Given the description of an element on the screen output the (x, y) to click on. 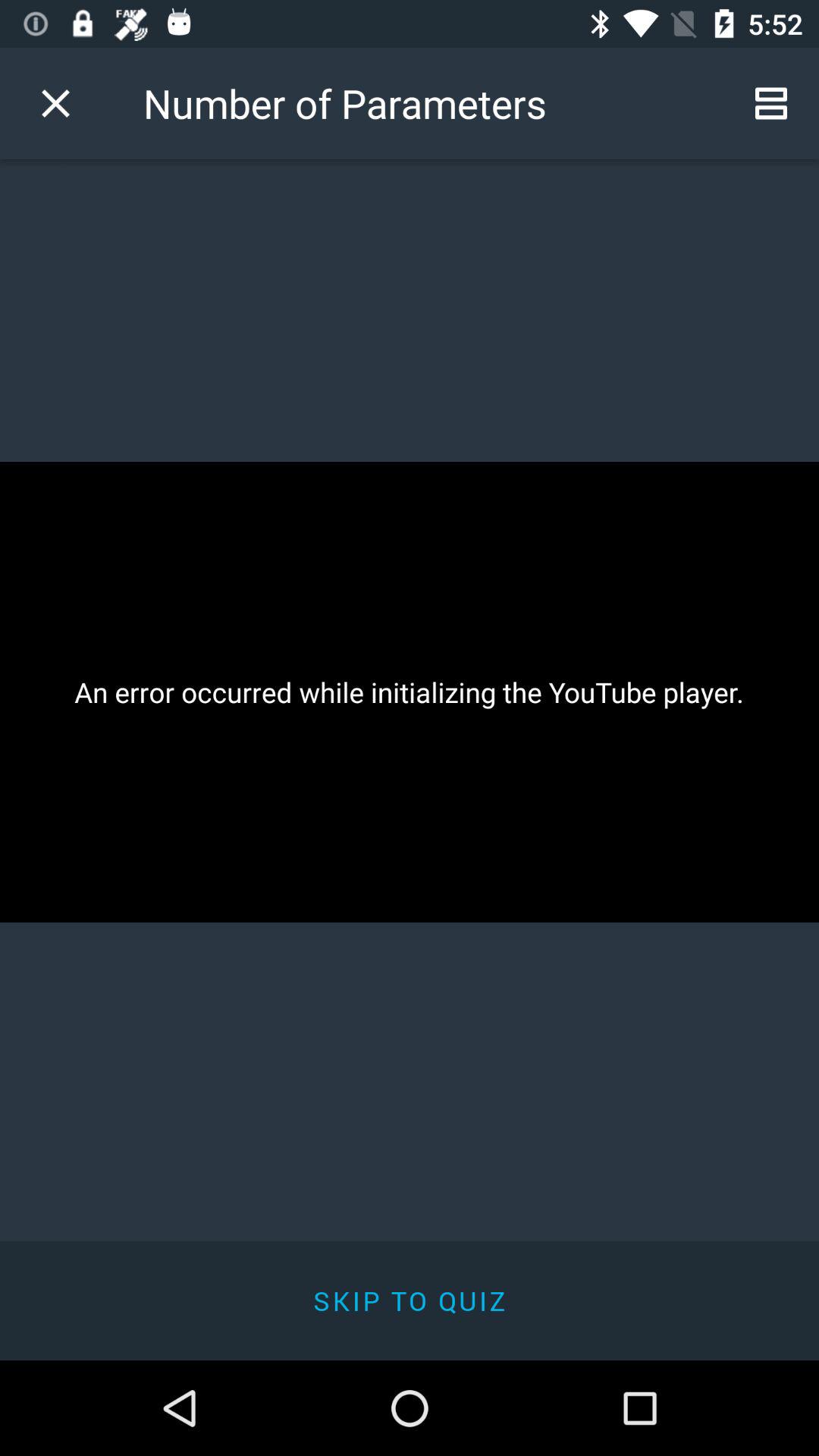
choose icon next to number of parameters item (55, 103)
